Given the description of an element on the screen output the (x, y) to click on. 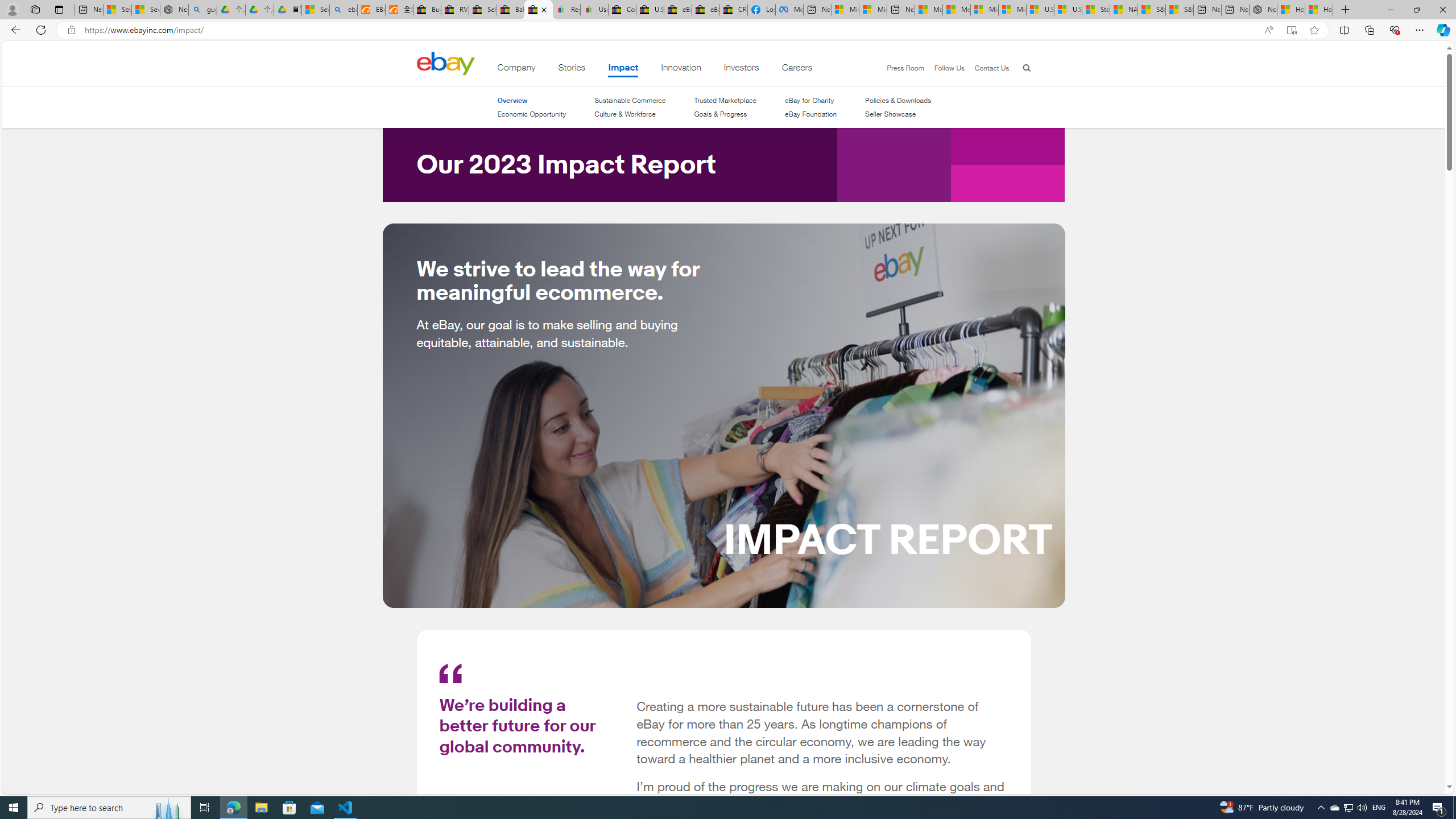
Class: desktop (445, 63)
guge yunpan - Search (202, 9)
Stories (571, 69)
eBay for Charity (809, 99)
Seller Showcase (889, 113)
Policies & Downloads (897, 100)
